Given the description of an element on the screen output the (x, y) to click on. 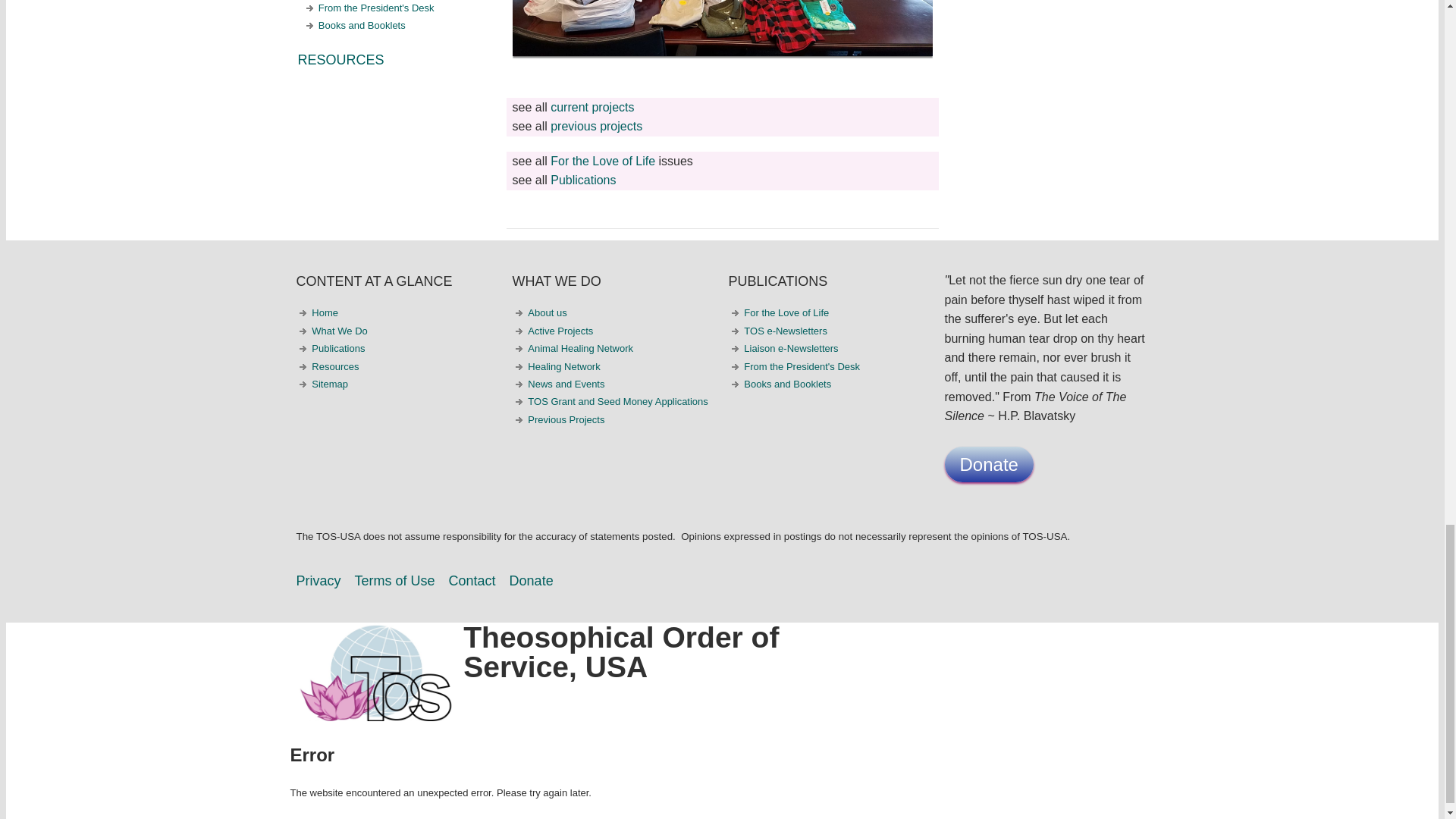
For the Love of Life (602, 160)
current projects (591, 106)
previous projects (596, 125)
Publications (582, 179)
